Given the description of an element on the screen output the (x, y) to click on. 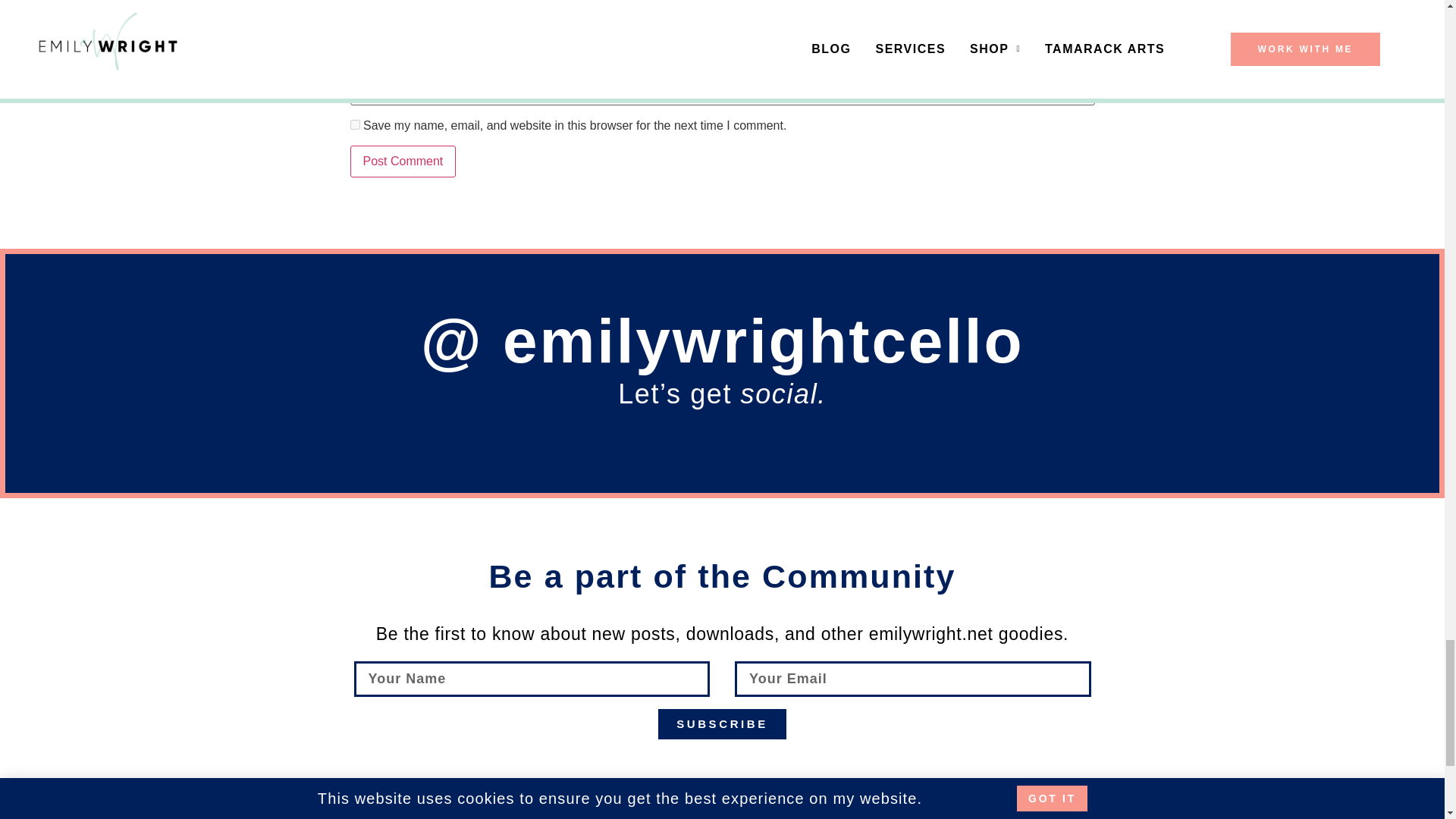
yes (354, 124)
Post Comment (403, 161)
